Given the description of an element on the screen output the (x, y) to click on. 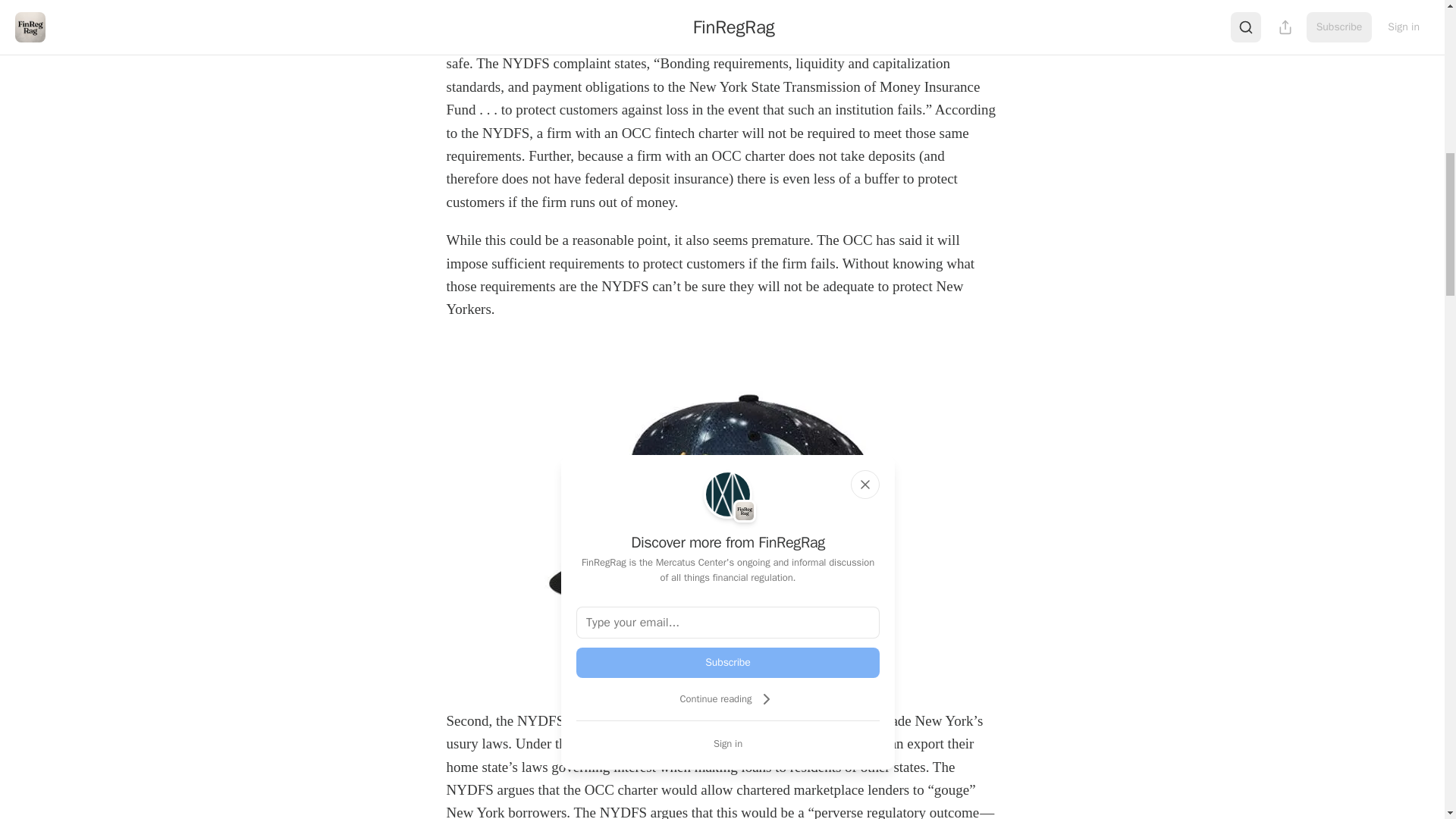
Sign in (727, 743)
National Bank Act (629, 743)
Subscribe (727, 662)
Source (721, 677)
